Given the description of an element on the screen output the (x, y) to click on. 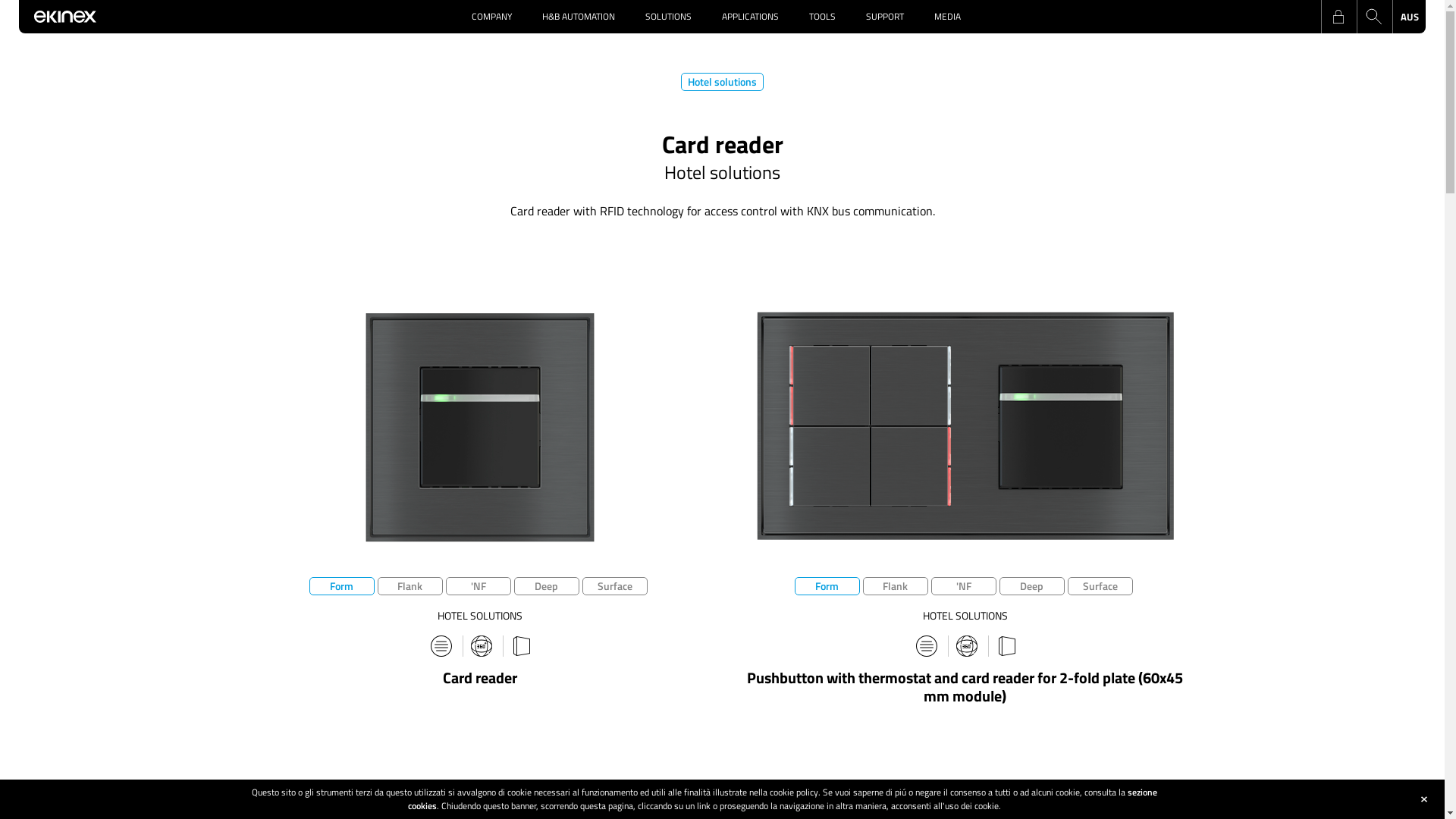
H&B AUTOMATION Element type: text (578, 16)
COMPANY Element type: text (491, 16)
APPLICATIONS Element type: text (749, 16)
sezione cookies Element type: text (782, 798)
Card reader Element type: hover (479, 425)
TOOLS Element type: text (821, 16)
Search Element type: hover (1373, 16)
close Element type: text (1424, 799)
360 Element type: text (965, 645)
SOLUTIONS Element type: text (668, 16)
detail Element type: text (440, 645)
360 Element type: text (480, 645)
Card reader Element type: text (479, 677)
Hotel solutions Element type: text (721, 81)
SUPPORT Element type: text (884, 16)
login Element type: text (1338, 16)
detail Element type: text (926, 645)
MEDIA Element type: text (947, 16)
